Given the description of an element on the screen output the (x, y) to click on. 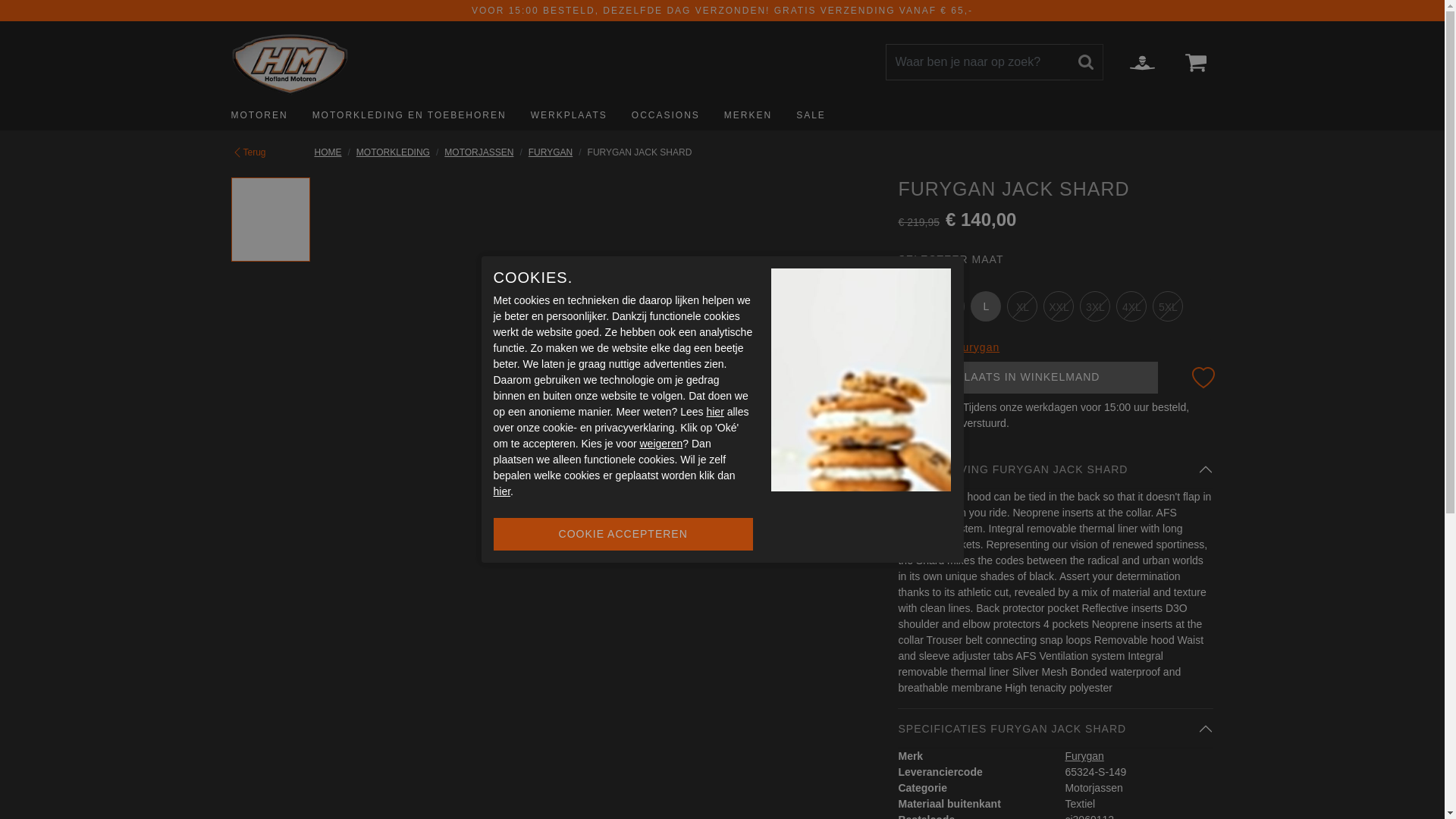
Motorkleding (392, 152)
Terug naar de homepage (327, 152)
Motorjassen (478, 152)
Cookie accepteren (622, 533)
Motoren (264, 114)
Furygan (550, 152)
Furygan jack Shard (640, 152)
Motorkleding en toebehoren (408, 114)
